Given the description of an element on the screen output the (x, y) to click on. 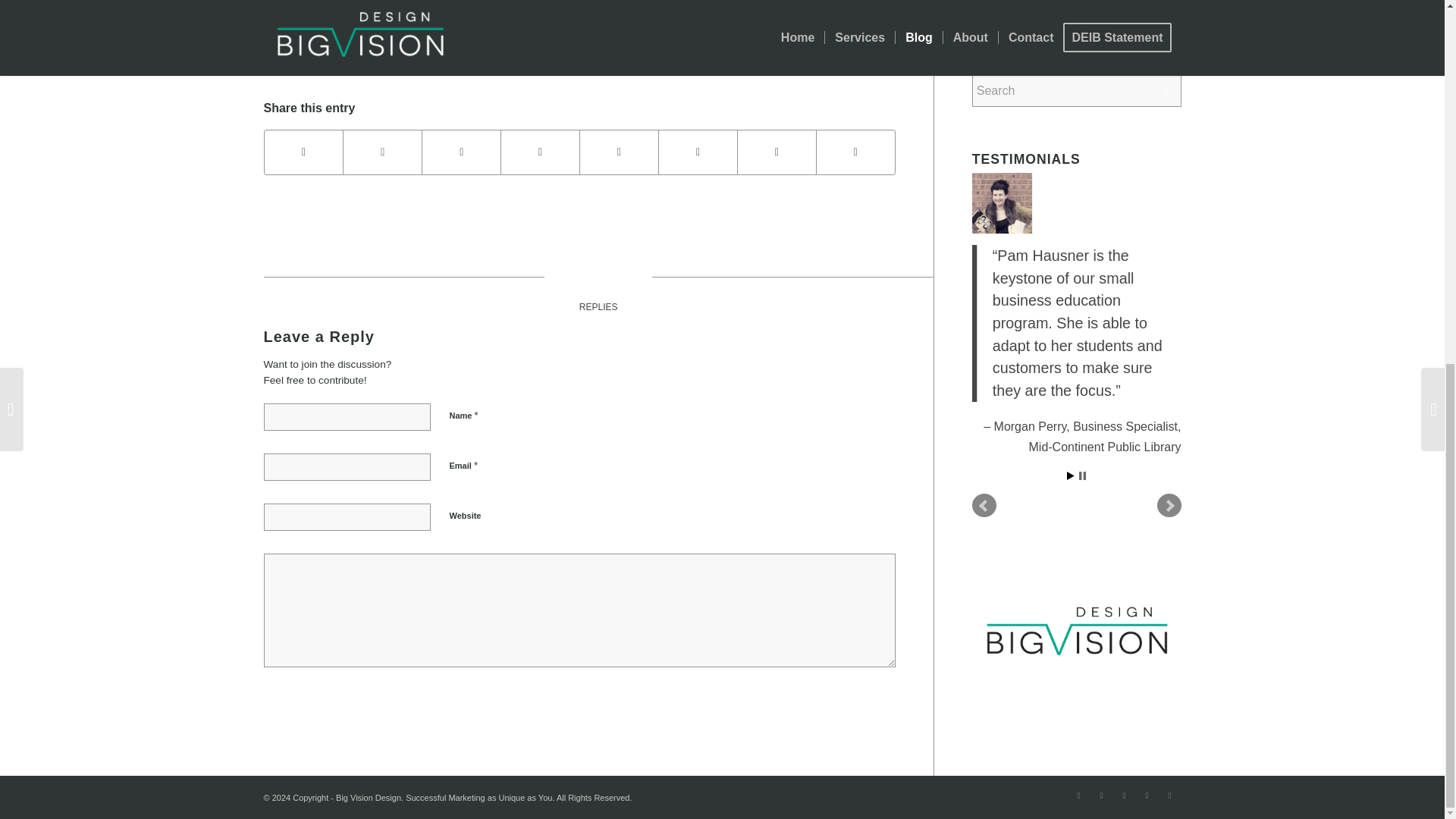
Post Comment (313, 702)
Mid-Continent Public Library (1103, 446)
Click to start search (1165, 91)
Post Comment (313, 702)
TESTIMONIALS (1026, 159)
